Given the description of an element on the screen output the (x, y) to click on. 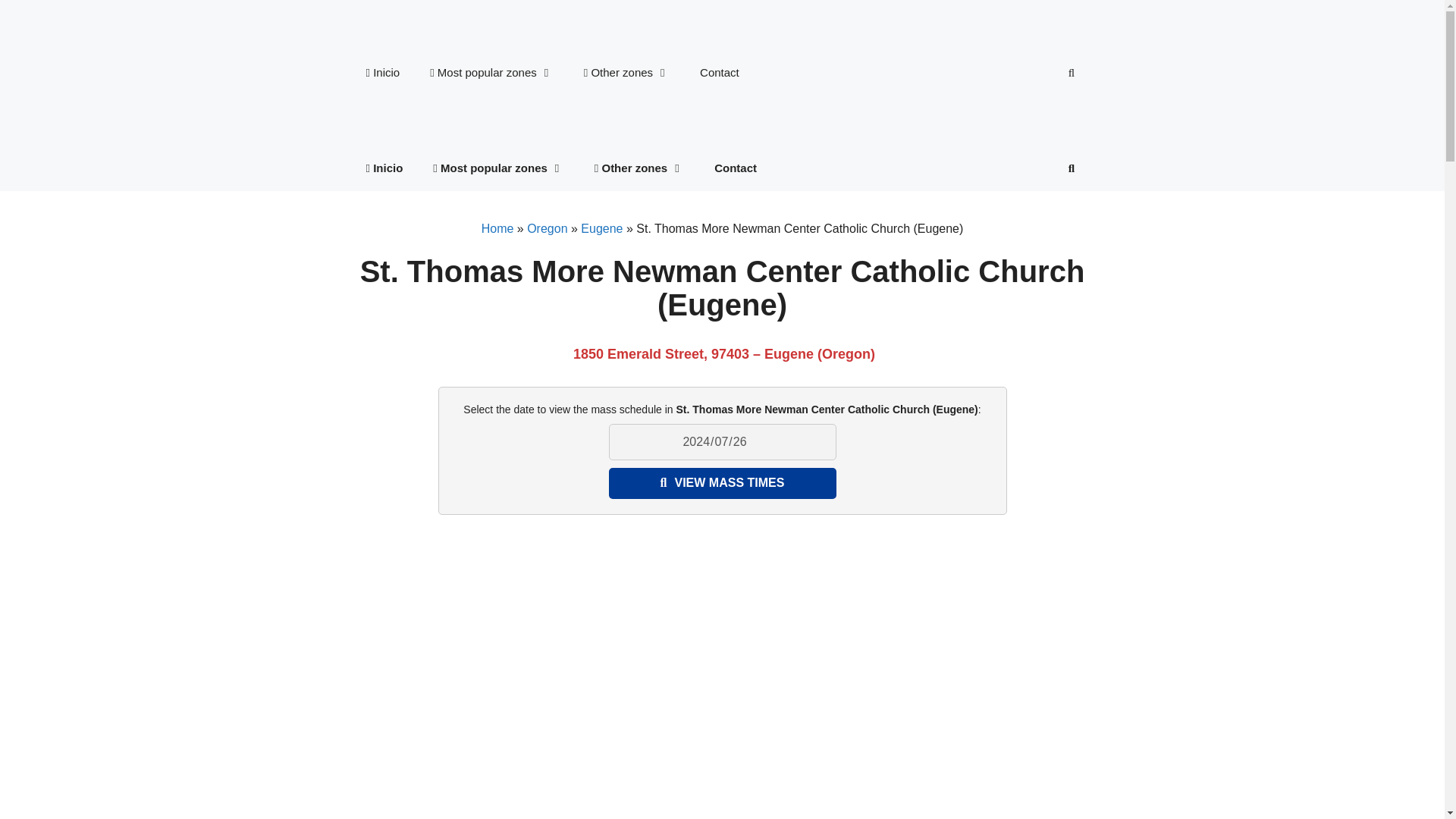
mass-times.us (418, 136)
2024-07-26 (721, 442)
Contact (719, 72)
mass-times.us (418, 119)
mass-times.us (418, 24)
